Given the description of an element on the screen output the (x, y) to click on. 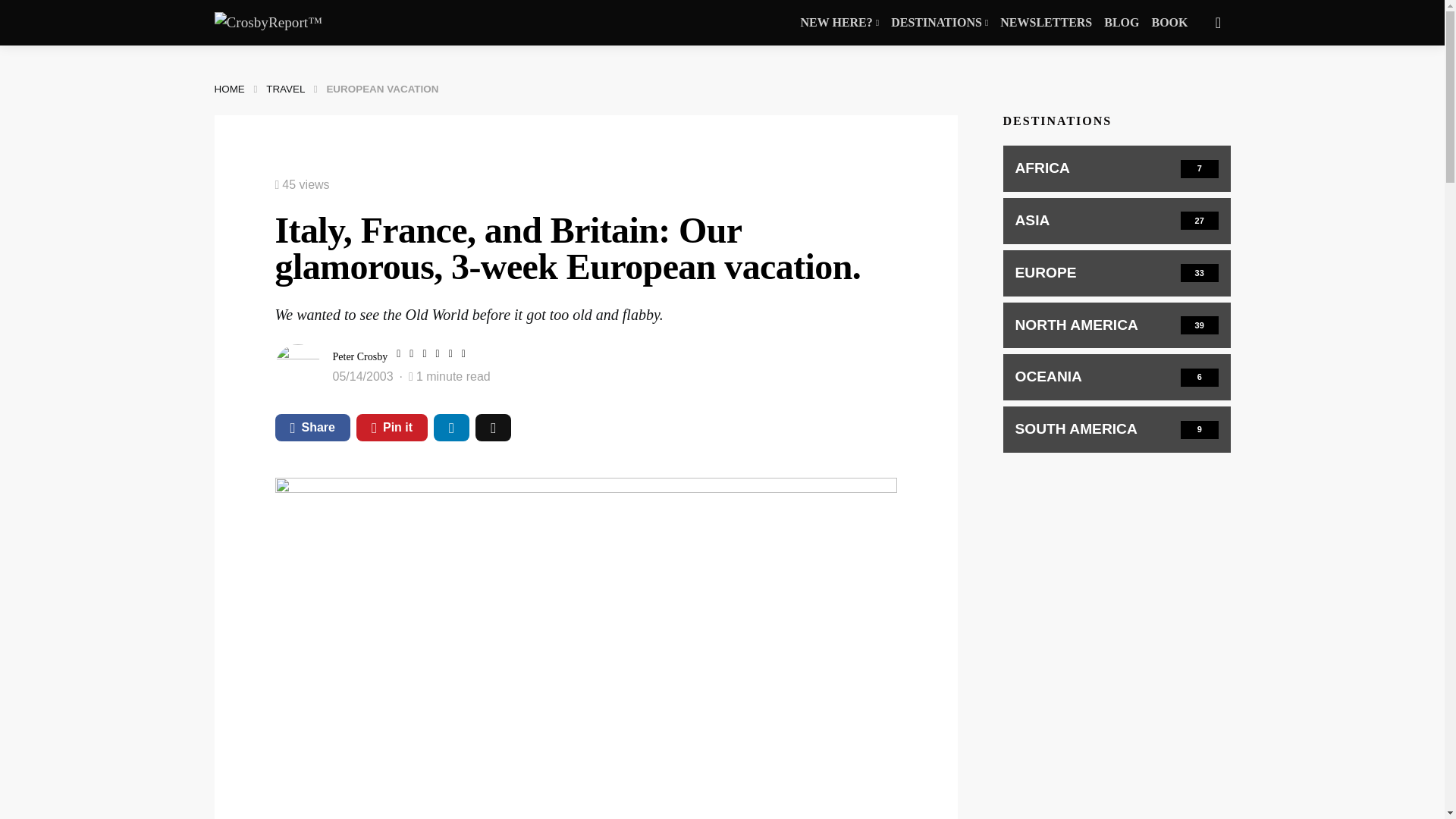
BLOG (1120, 22)
NEWSLETTERS (1045, 22)
An explanation of this site. (839, 22)
DESTINATIONS (939, 22)
BOOK (1168, 22)
NEW HERE? (839, 22)
